Given the description of an element on the screen output the (x, y) to click on. 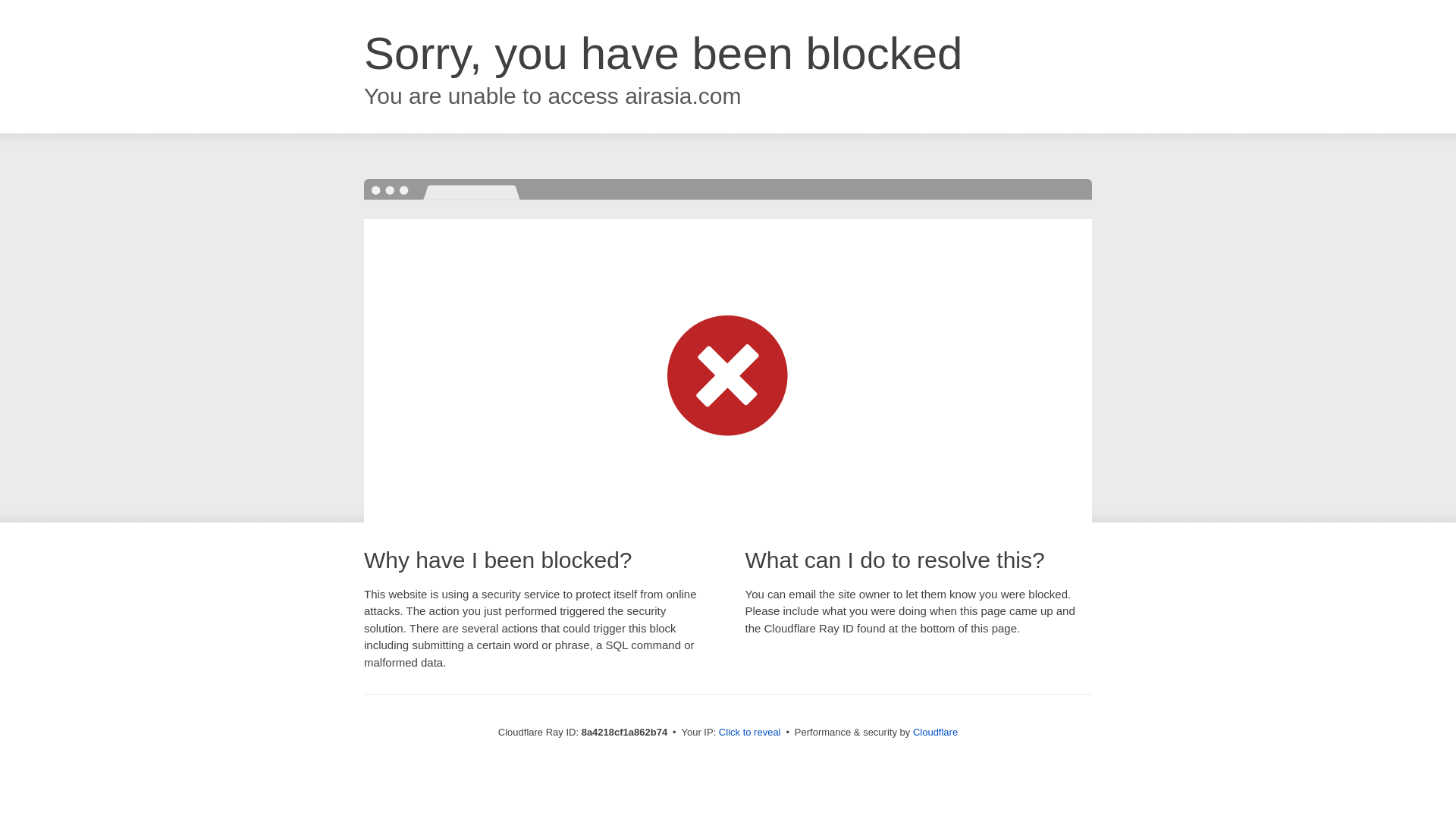
Cloudflare (935, 731)
Click to reveal (749, 732)
